Given the description of an element on the screen output the (x, y) to click on. 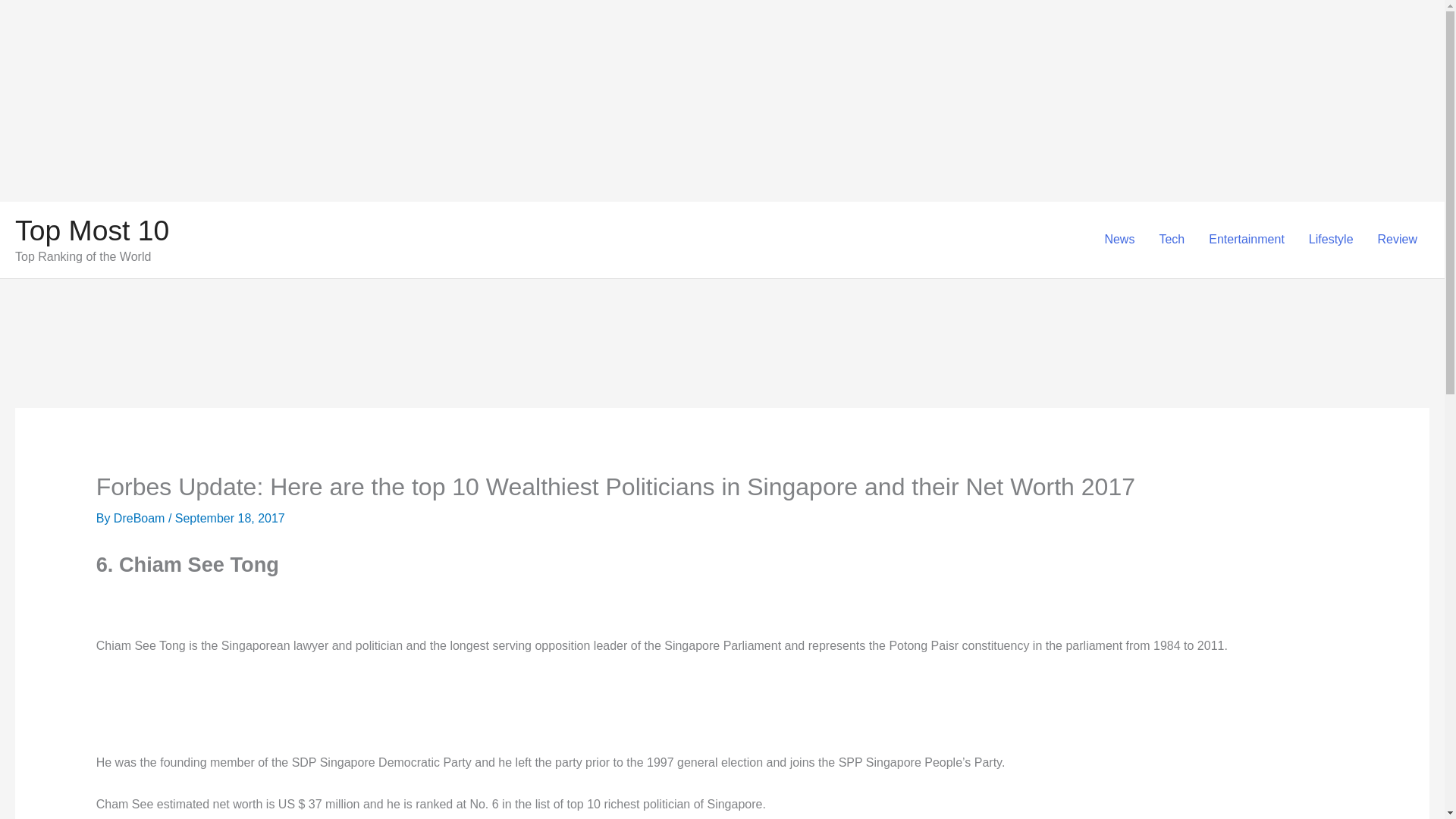
Entertainment (1246, 239)
Tech (1171, 239)
News (1119, 239)
Review (1397, 239)
3rd party ad content (722, 367)
View all posts by DreBoam (140, 517)
3rd party ad content (721, 711)
Lifestyle (1331, 239)
Top Most 10 (91, 230)
DreBoam (140, 517)
